Given the description of an element on the screen output the (x, y) to click on. 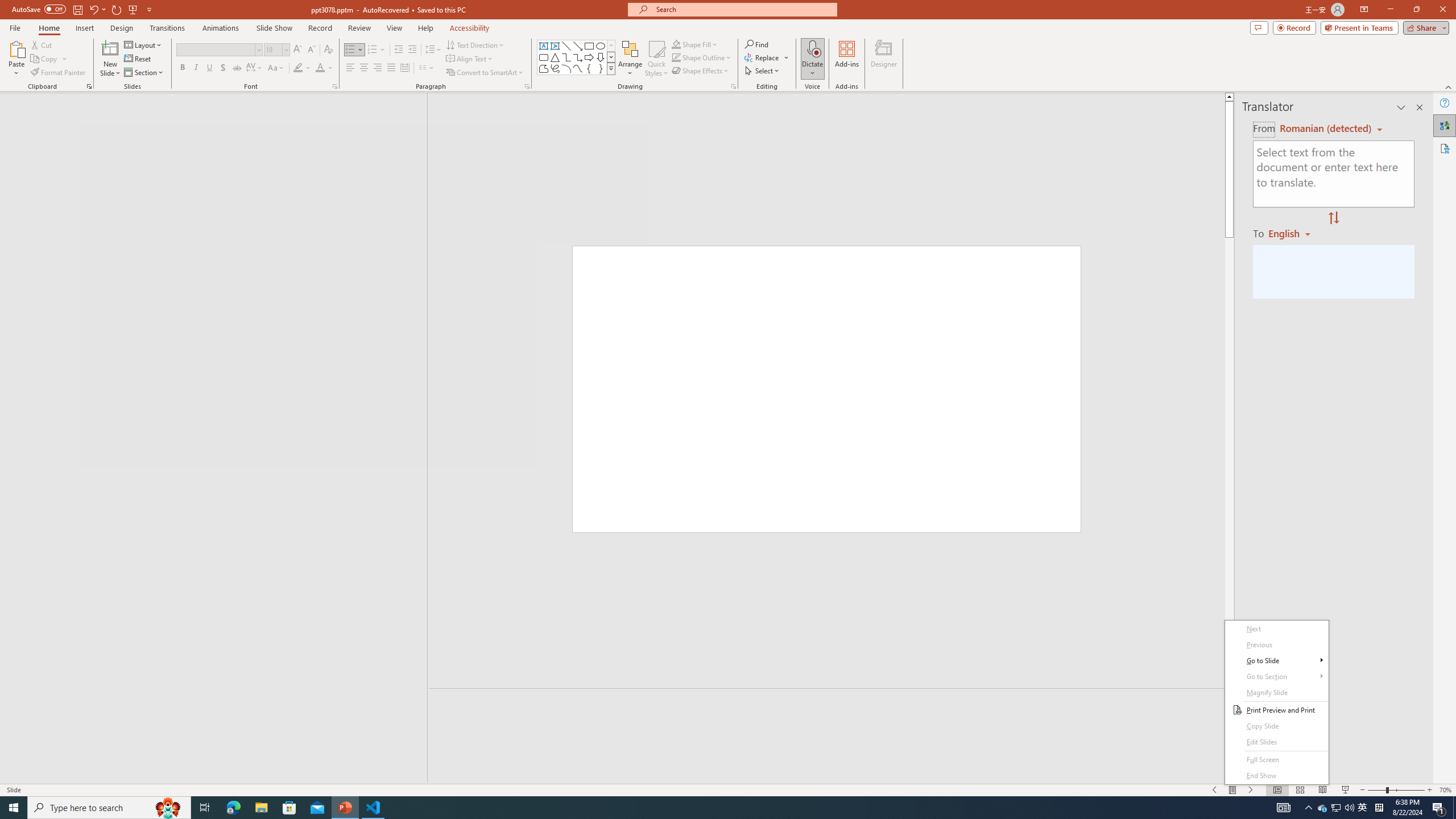
Romanian (1293, 232)
Magnify Slide (1276, 692)
Slide Show Previous On (1214, 790)
Running applications (700, 807)
